Given the description of an element on the screen output the (x, y) to click on. 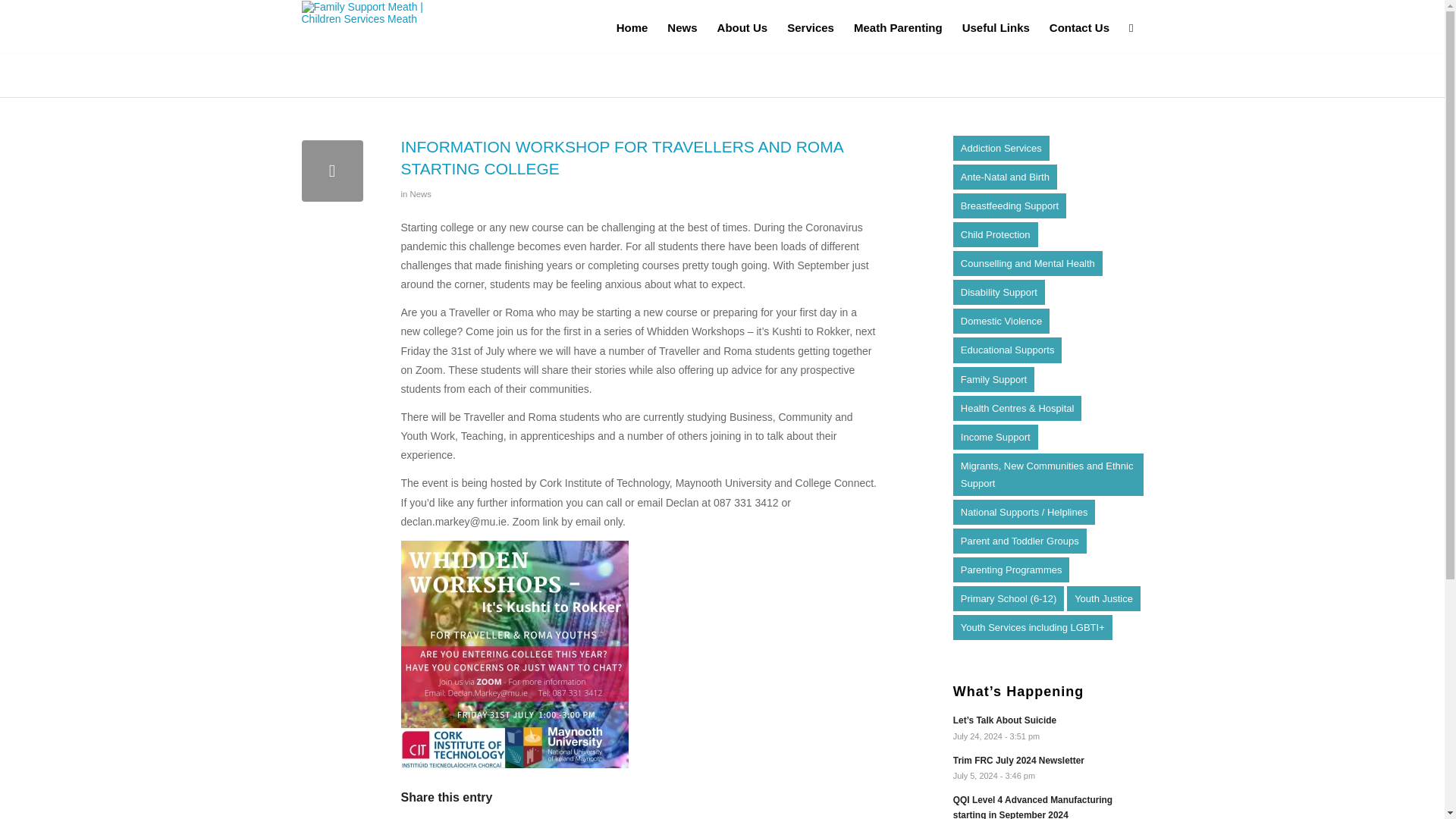
Home (632, 27)
Breastfeeding Support (1009, 205)
Useful Links (995, 27)
Permanent Link: Blog - Latest News (352, 74)
Meath Parenting (898, 27)
Addiction Services (1001, 147)
Blog - Latest News (352, 74)
Contact Us (1079, 27)
Services (810, 27)
Trim FRC July 2024 Newsletter (1047, 766)
News (682, 27)
